Given the description of an element on the screen output the (x, y) to click on. 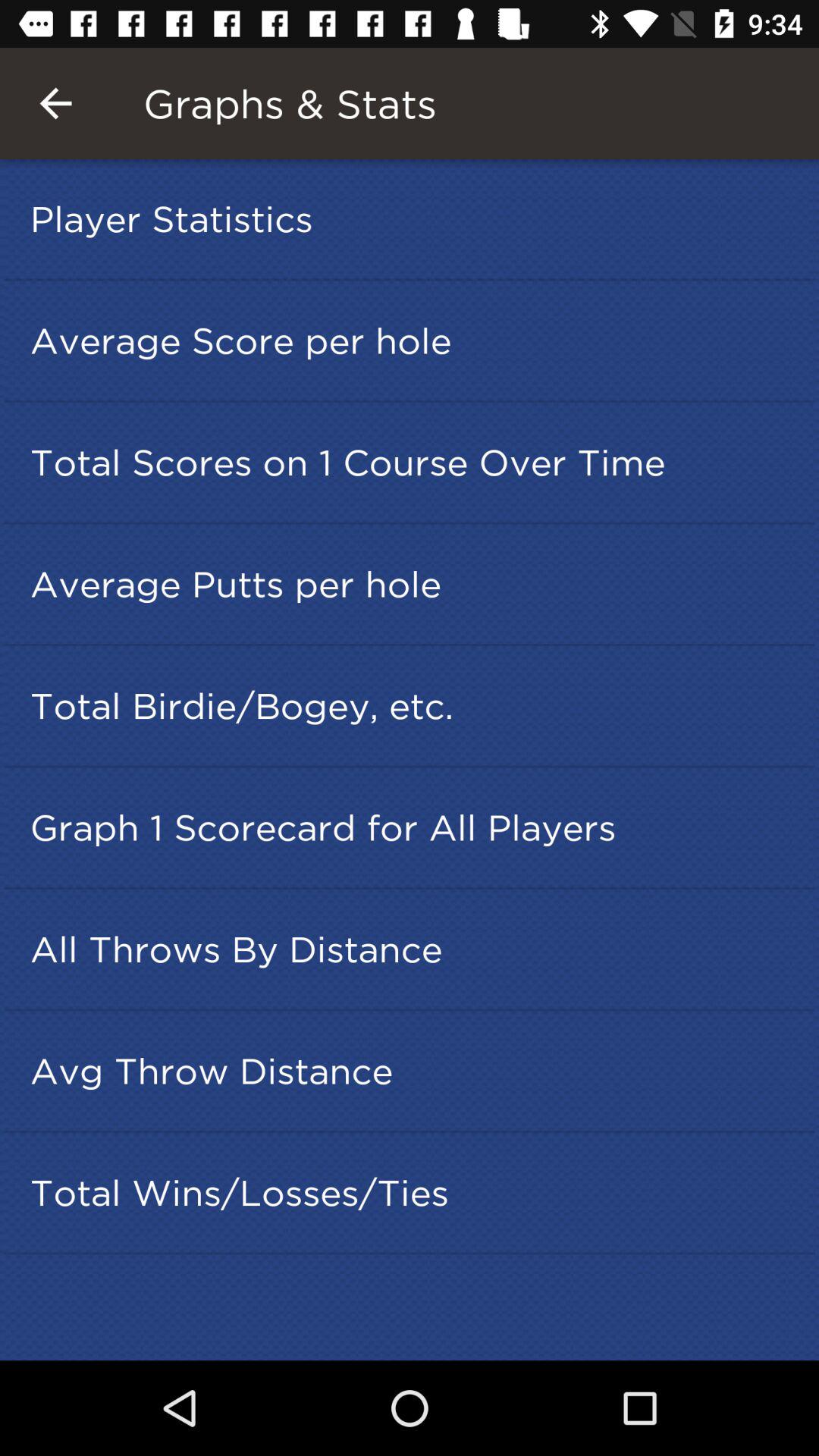
tap the icon above the total birdie bogey (414, 583)
